Given the description of an element on the screen output the (x, y) to click on. 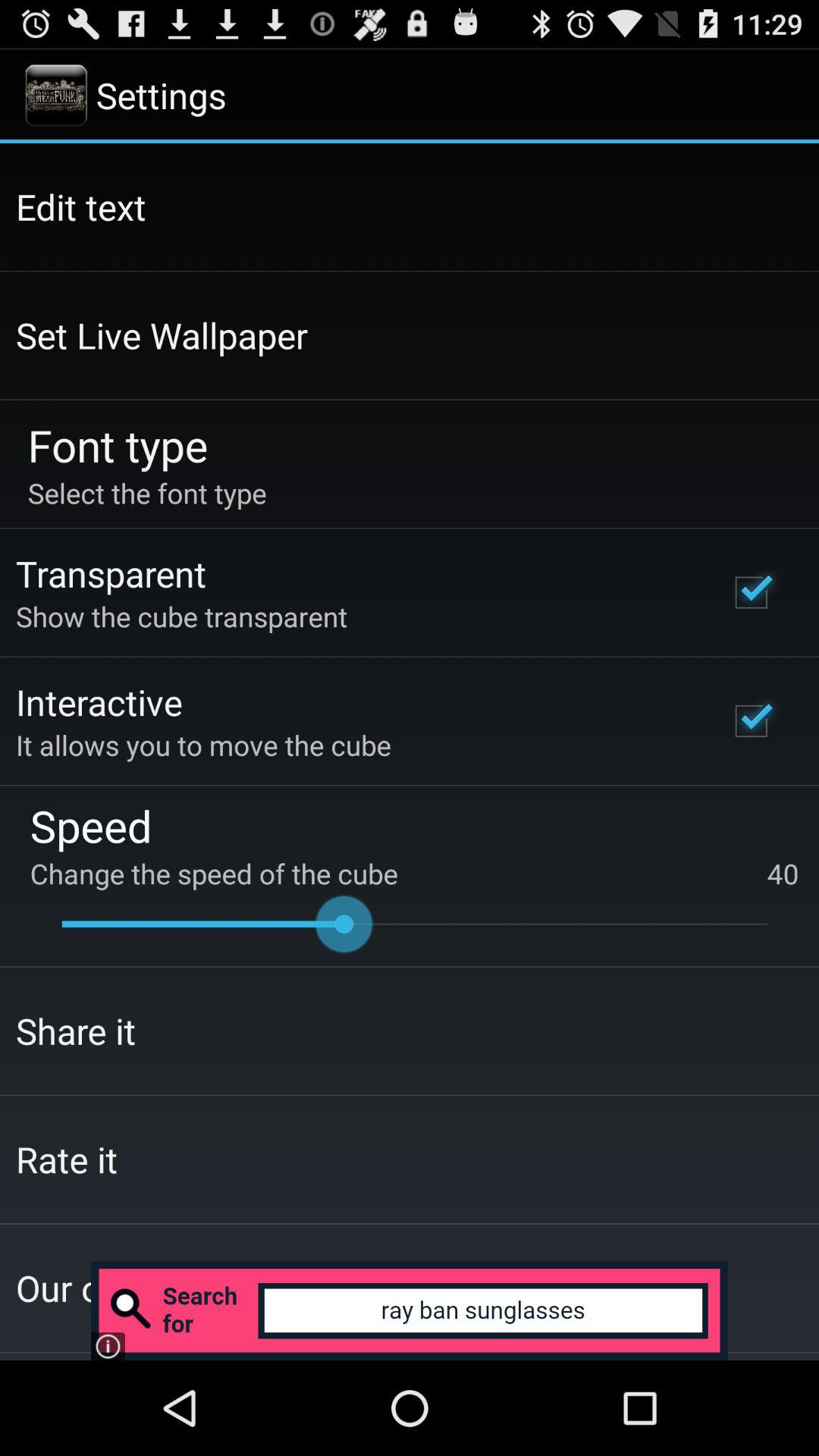
search bar (409, 1310)
